Given the description of an element on the screen output the (x, y) to click on. 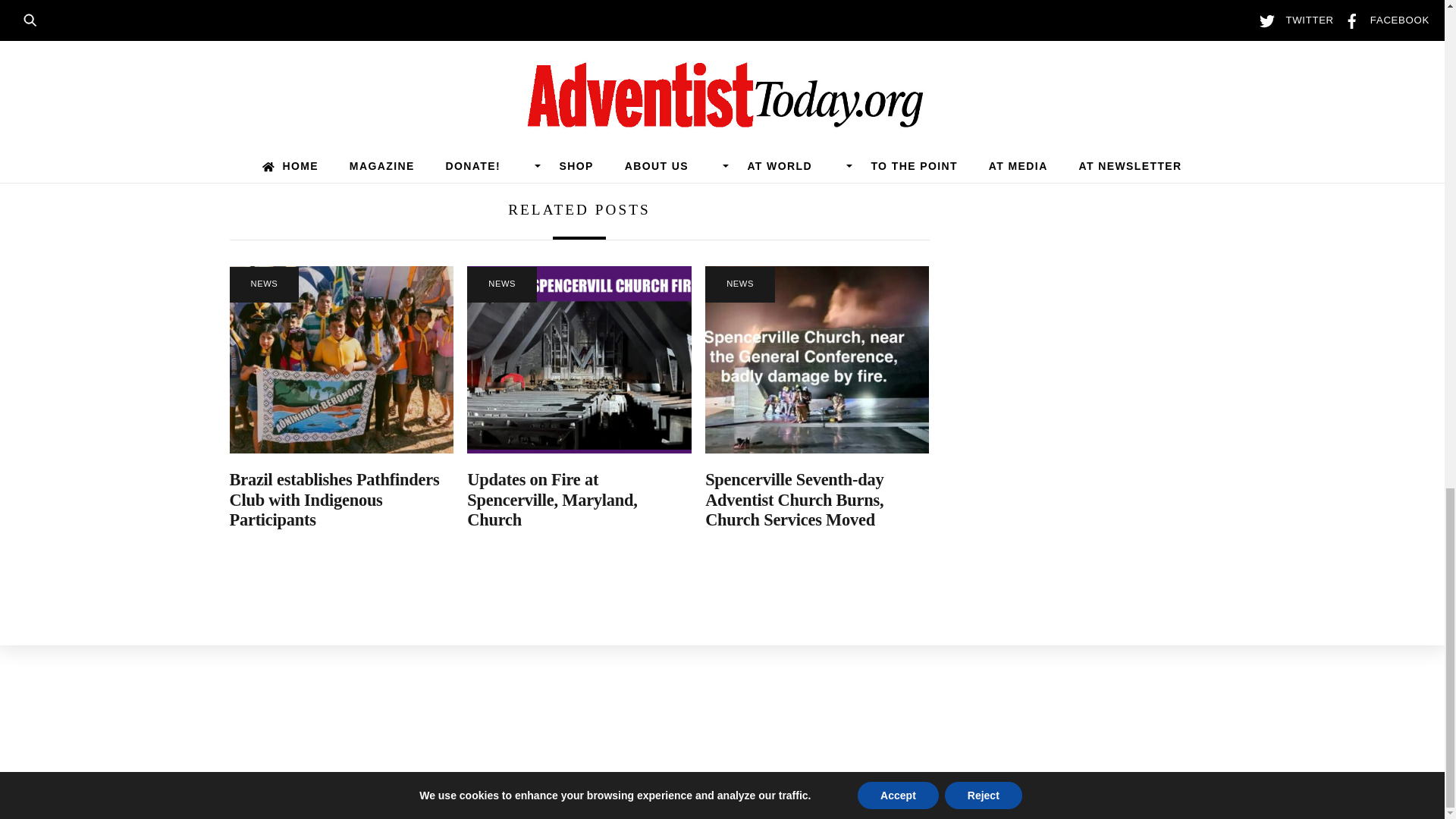
The Trial, Part 1 (392, 129)
spencerville2 (578, 359)
Screenshot (816, 359)
NEWS (263, 284)
Staging a Show of Loyalty (764, 129)
To comment, click here. (324, 12)
